Given the description of an element on the screen output the (x, y) to click on. 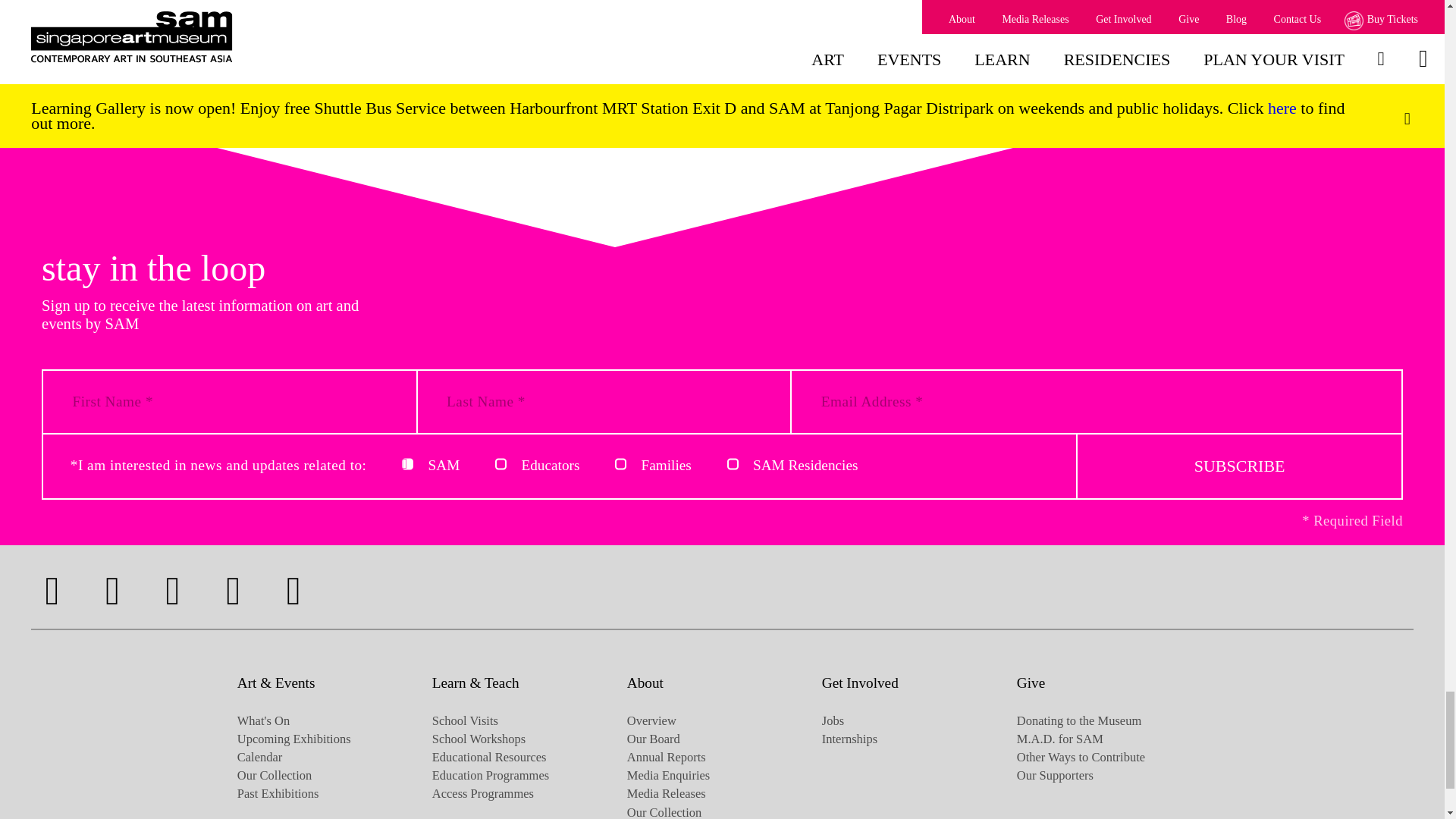
Instagram (111, 590)
Subscribe (1238, 465)
Facebook (52, 590)
